Given the description of an element on the screen output the (x, y) to click on. 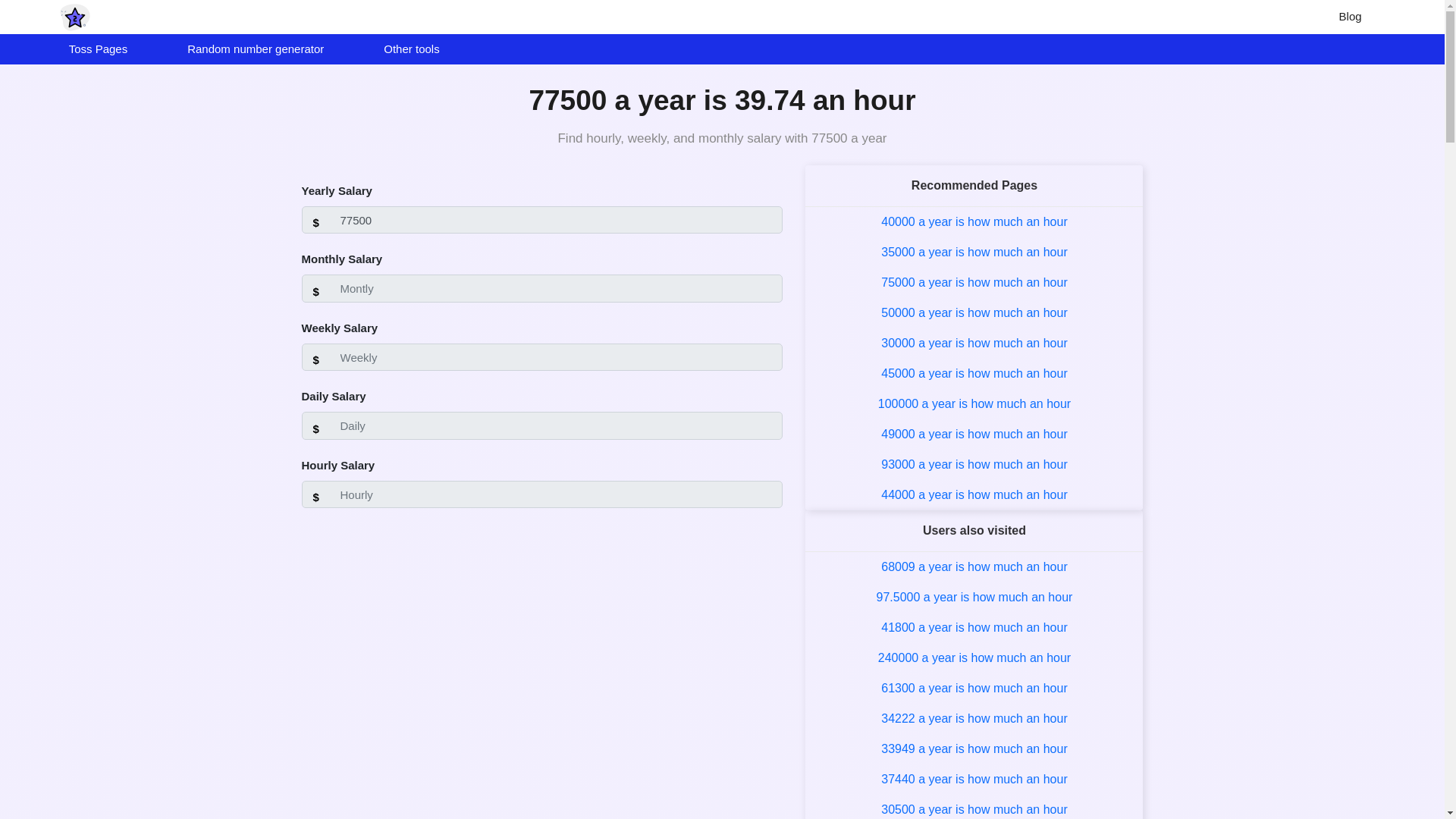
41800 a year is how much an hour (973, 626)
100000 a year is how much an hour (973, 403)
30000 a year is how much an hour (973, 342)
75000 a year is how much an hour (973, 282)
68009 a year is how much an hour (973, 566)
44000 a year is how much an hour (973, 494)
50000 a year is how much an hour (973, 312)
97.5000 a year is how much an hour (974, 596)
45000 a year is how much an hour (973, 373)
40000 a year is how much an hour (973, 221)
49000 a year is how much an hour (973, 433)
93000 a year is how much an hour (973, 463)
35000 a year is how much an hour (973, 251)
240000 a year is how much an hour (973, 657)
Blog (1350, 16)
